Given the description of an element on the screen output the (x, y) to click on. 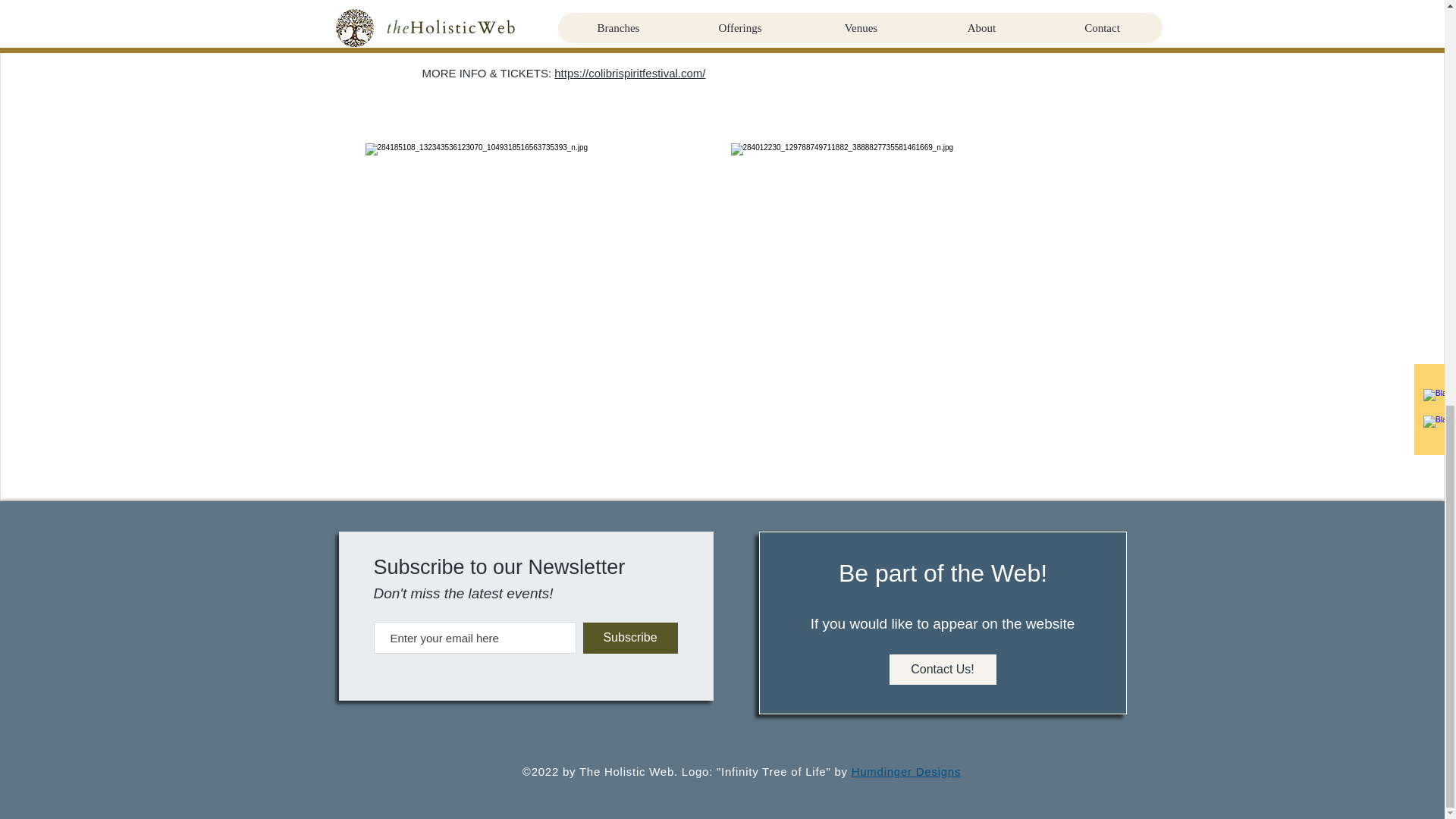
Humdinger Designs (905, 771)
Subscribe (629, 637)
Contact Us! (941, 669)
